Given the description of an element on the screen output the (x, y) to click on. 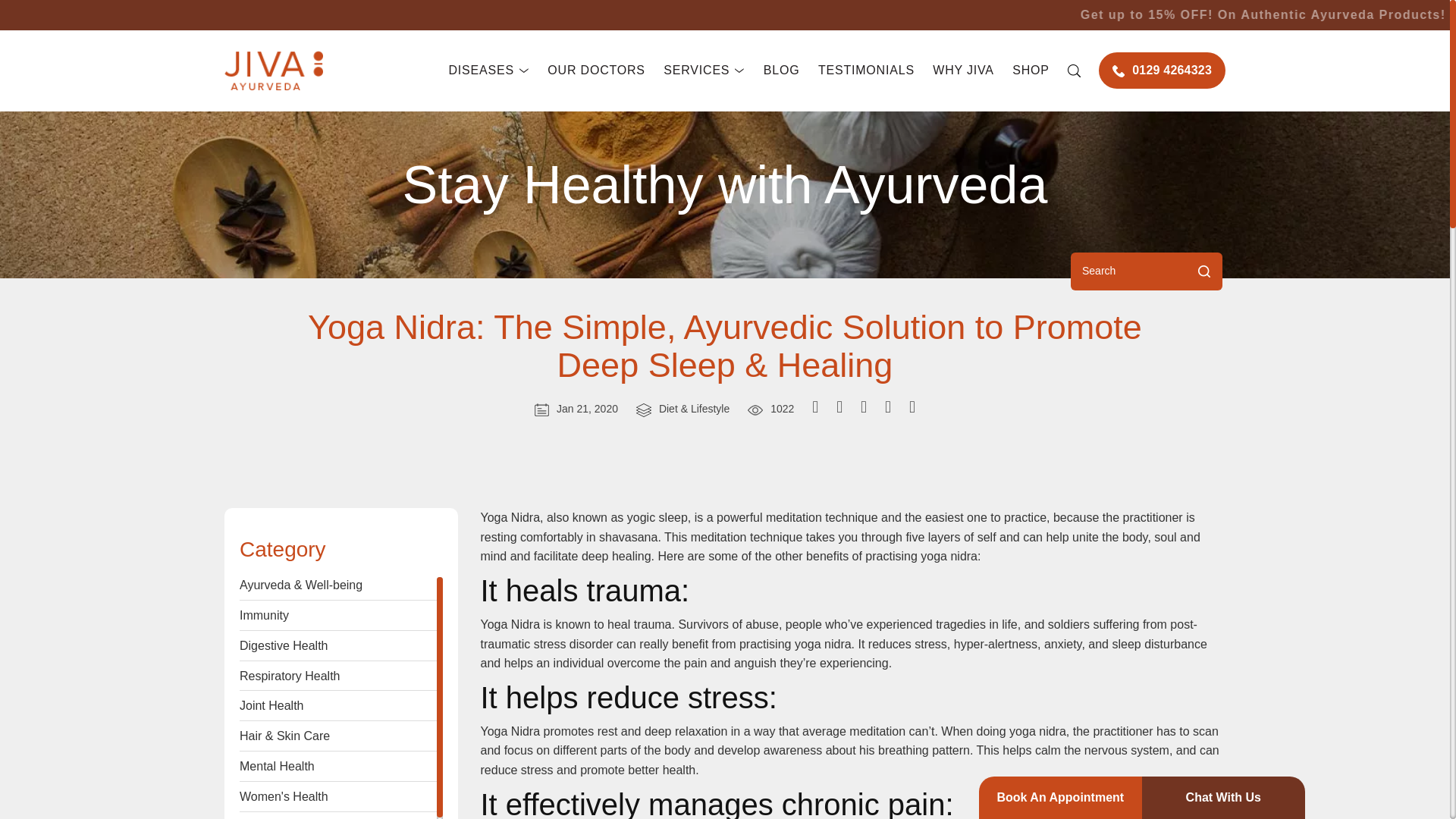
category-icon (643, 409)
SERVICES (703, 70)
blog-view-icon (755, 409)
OUR DOCTORS (596, 70)
date (541, 409)
BLOG (780, 70)
DISEASES (488, 70)
